Given the description of an element on the screen output the (x, y) to click on. 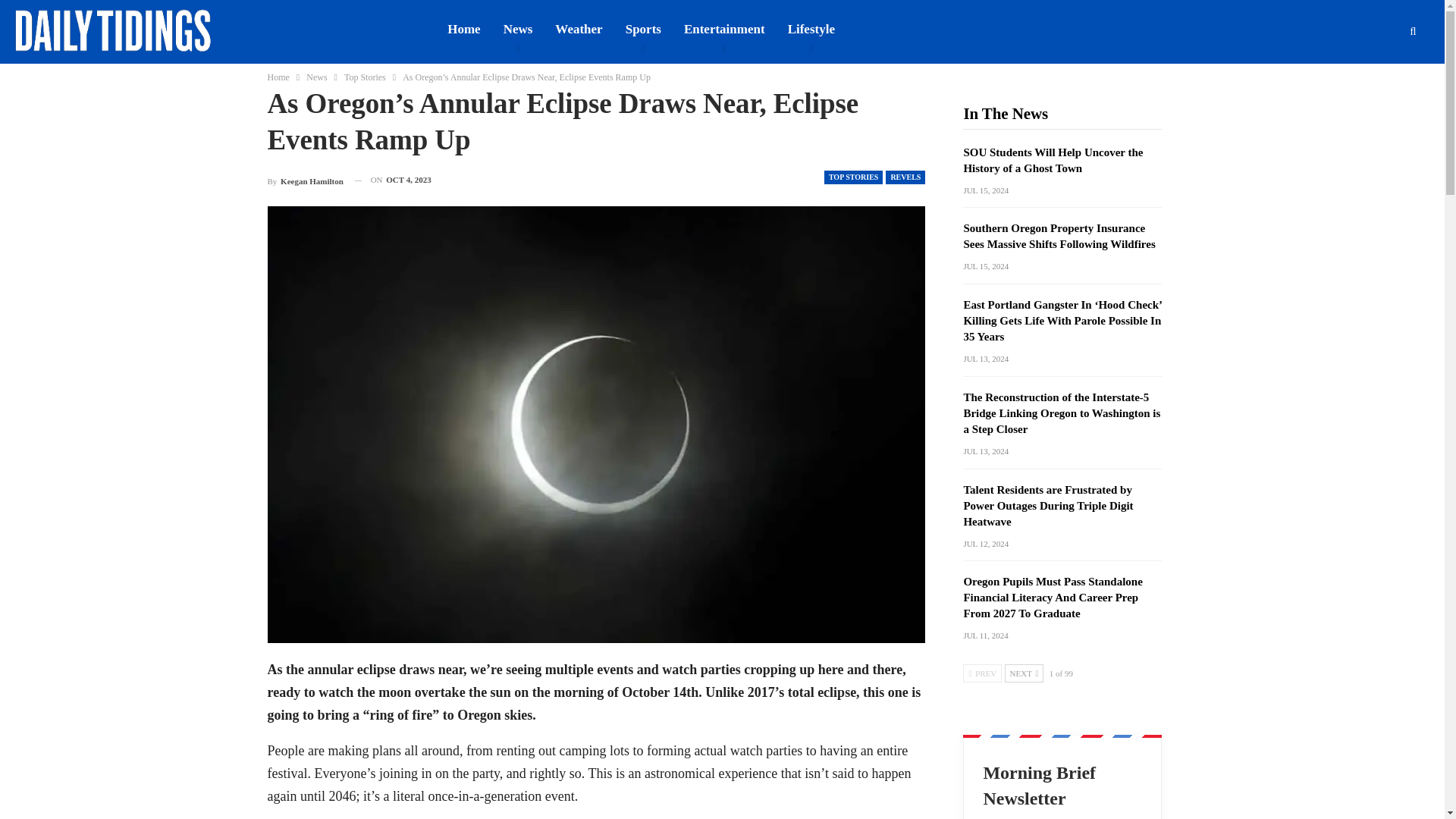
Top Stories (364, 76)
Sports (643, 29)
Entertainment (724, 29)
Lifestyle (810, 29)
REVELS (904, 177)
Weather (577, 29)
Home (463, 29)
Home (277, 76)
Next (1023, 673)
By Keegan Hamilton (304, 179)
